Given the description of an element on the screen output the (x, y) to click on. 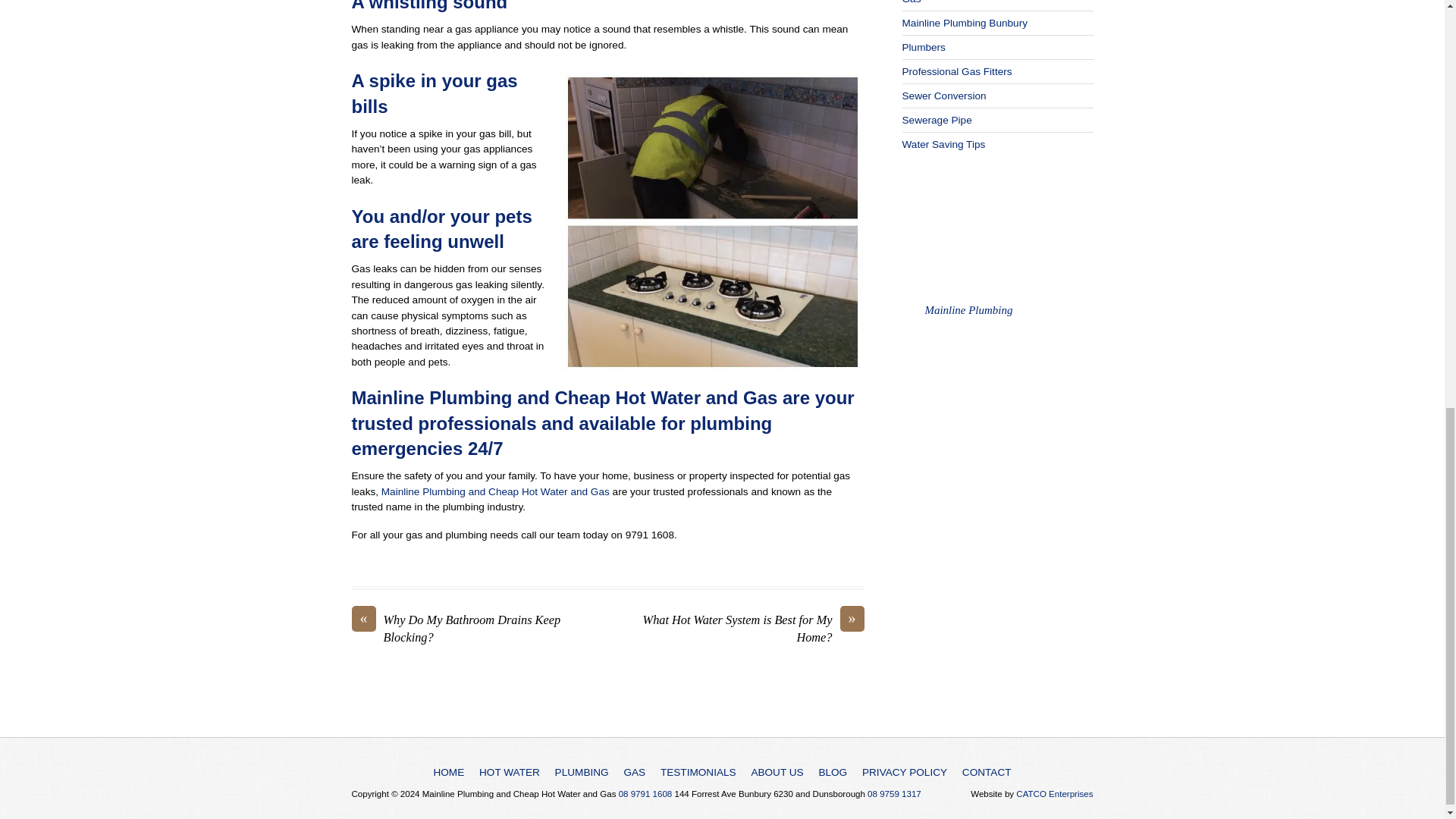
Gas fitting done by Mainline (712, 221)
Plumbers (923, 47)
Mainline Plumbing and Cheap Hot Water and Gas (495, 491)
Sewerage Pipe (937, 120)
Water Saving Tips (943, 143)
Professional Gas Fitters (956, 71)
Mainline Plumbing (968, 309)
Mainline Plumbing Bunbury (964, 22)
Sewer Conversion (944, 95)
